Given the description of an element on the screen output the (x, y) to click on. 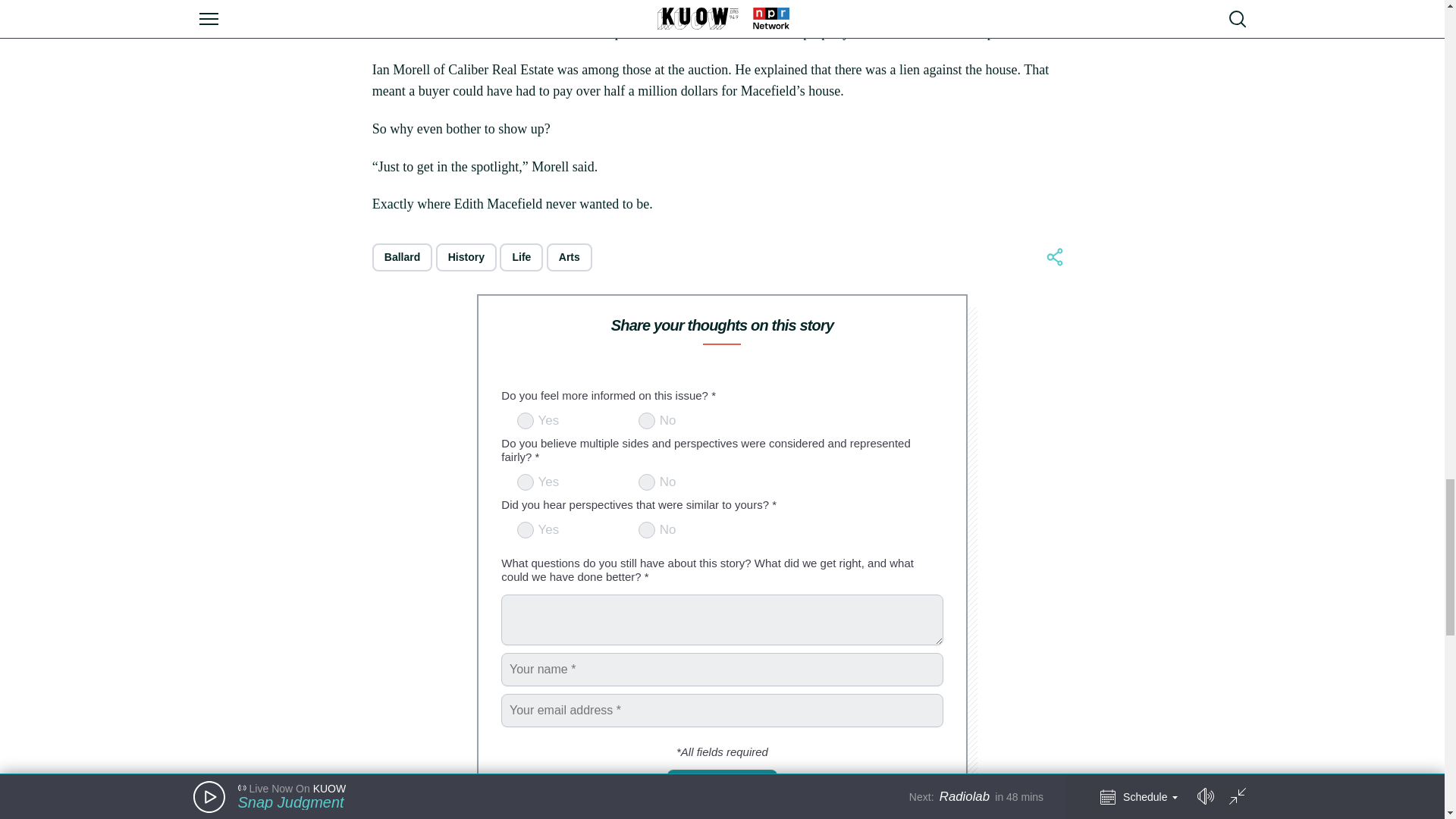
Submit (721, 787)
